Given the description of an element on the screen output the (x, y) to click on. 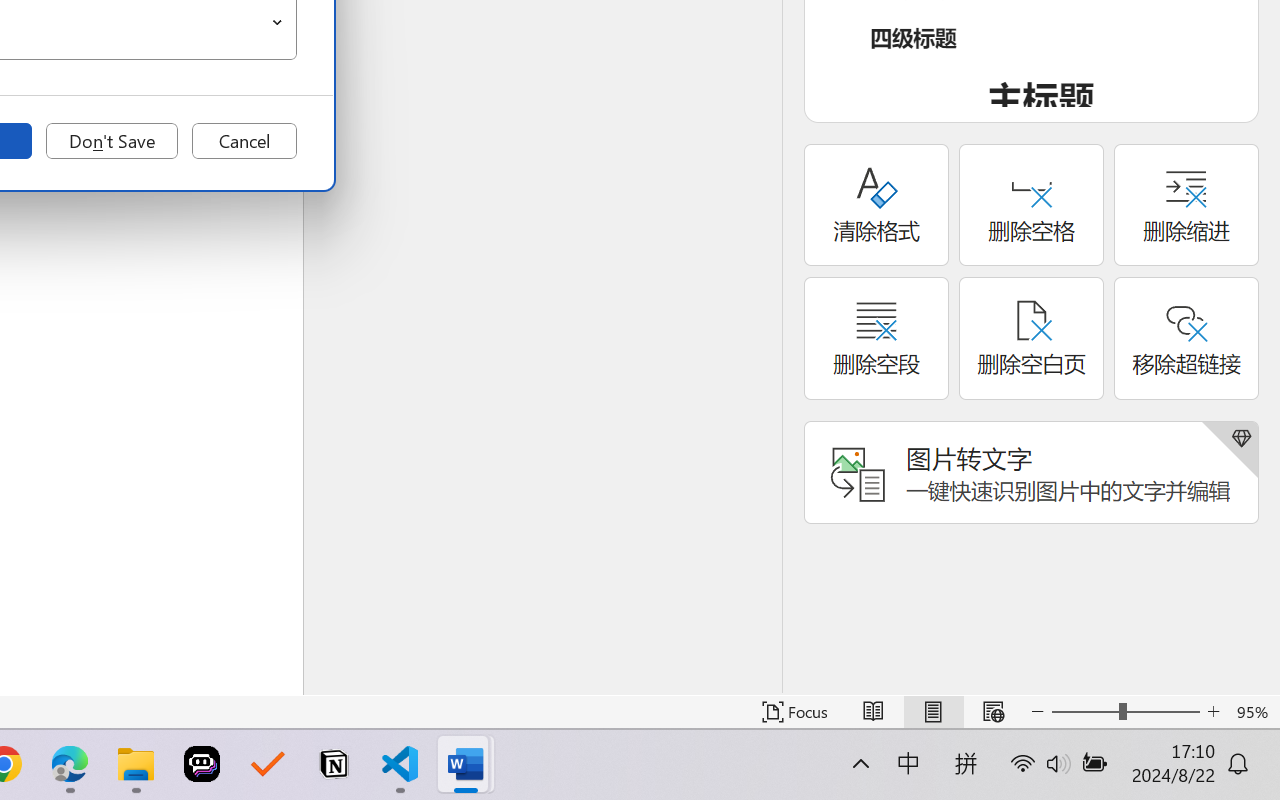
Don't Save (111, 141)
